Given the description of an element on the screen output the (x, y) to click on. 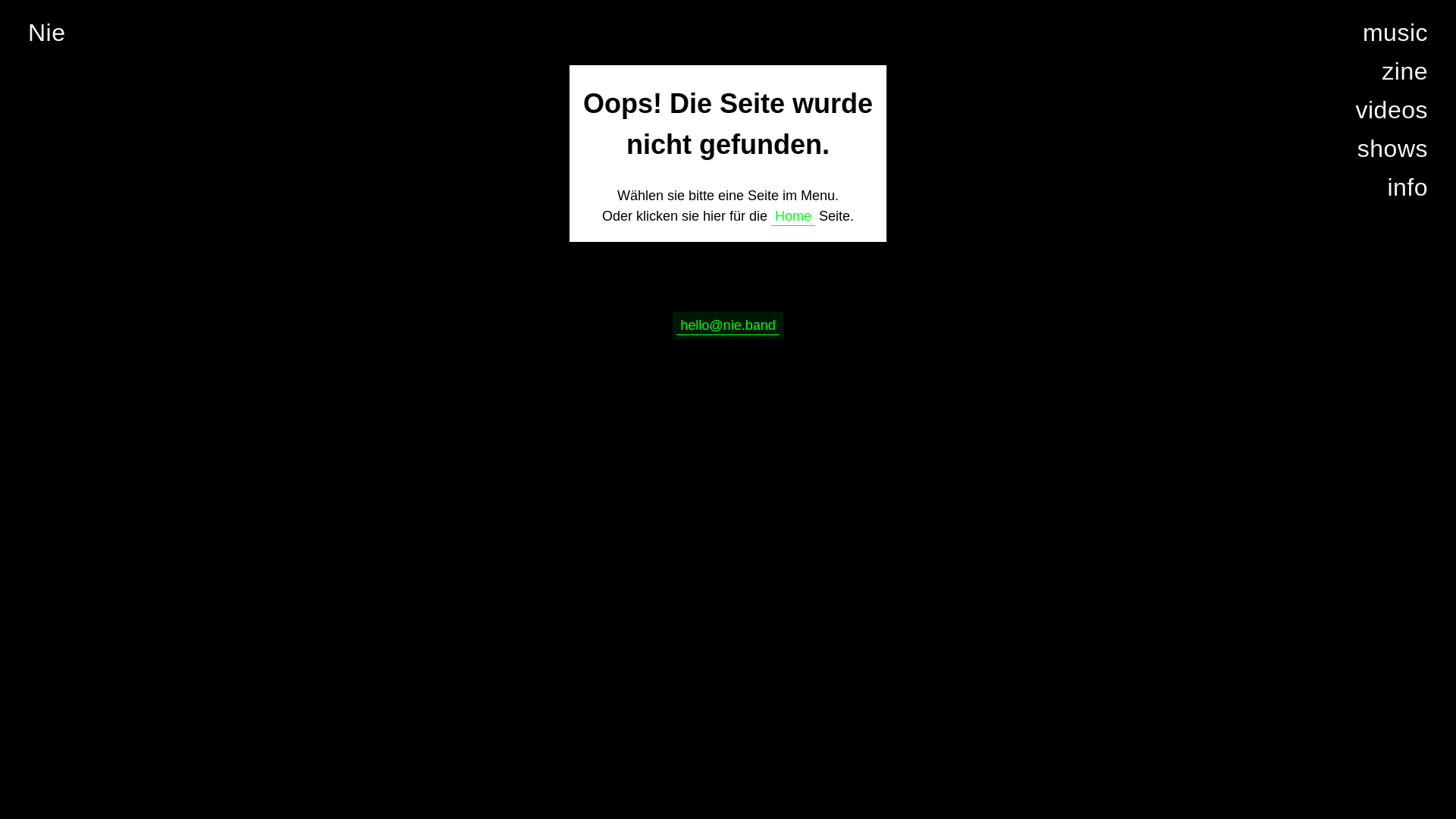
Nie Element type: text (46, 32)
hello@nie.band Element type: text (727, 325)
music Element type: text (1395, 32)
zine Element type: text (1404, 71)
shows Element type: text (1392, 148)
info Element type: text (1407, 187)
videos Element type: text (1391, 110)
Home Element type: text (793, 216)
